Given the description of an element on the screen output the (x, y) to click on. 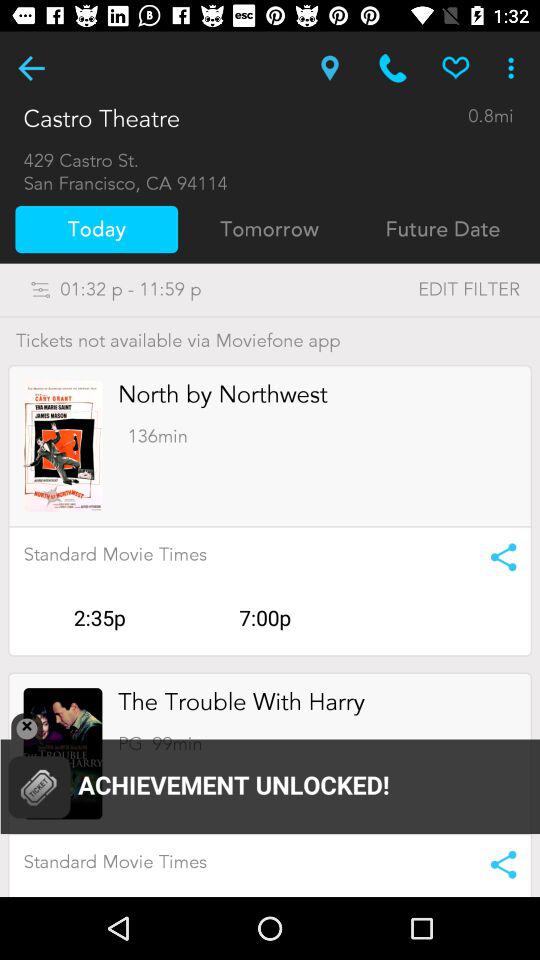
advertisement page (270, 776)
